Given the description of an element on the screen output the (x, y) to click on. 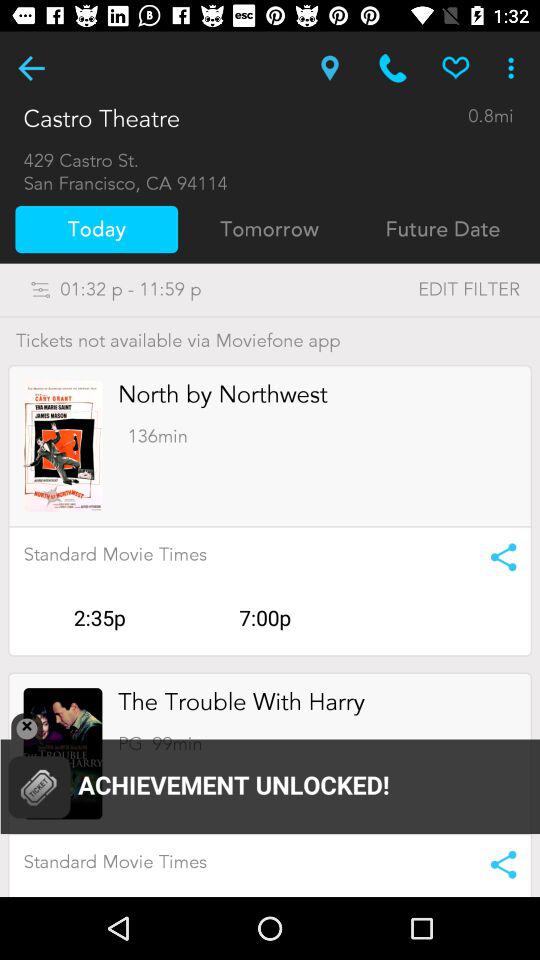
advertisement page (270, 776)
